Given the description of an element on the screen output the (x, y) to click on. 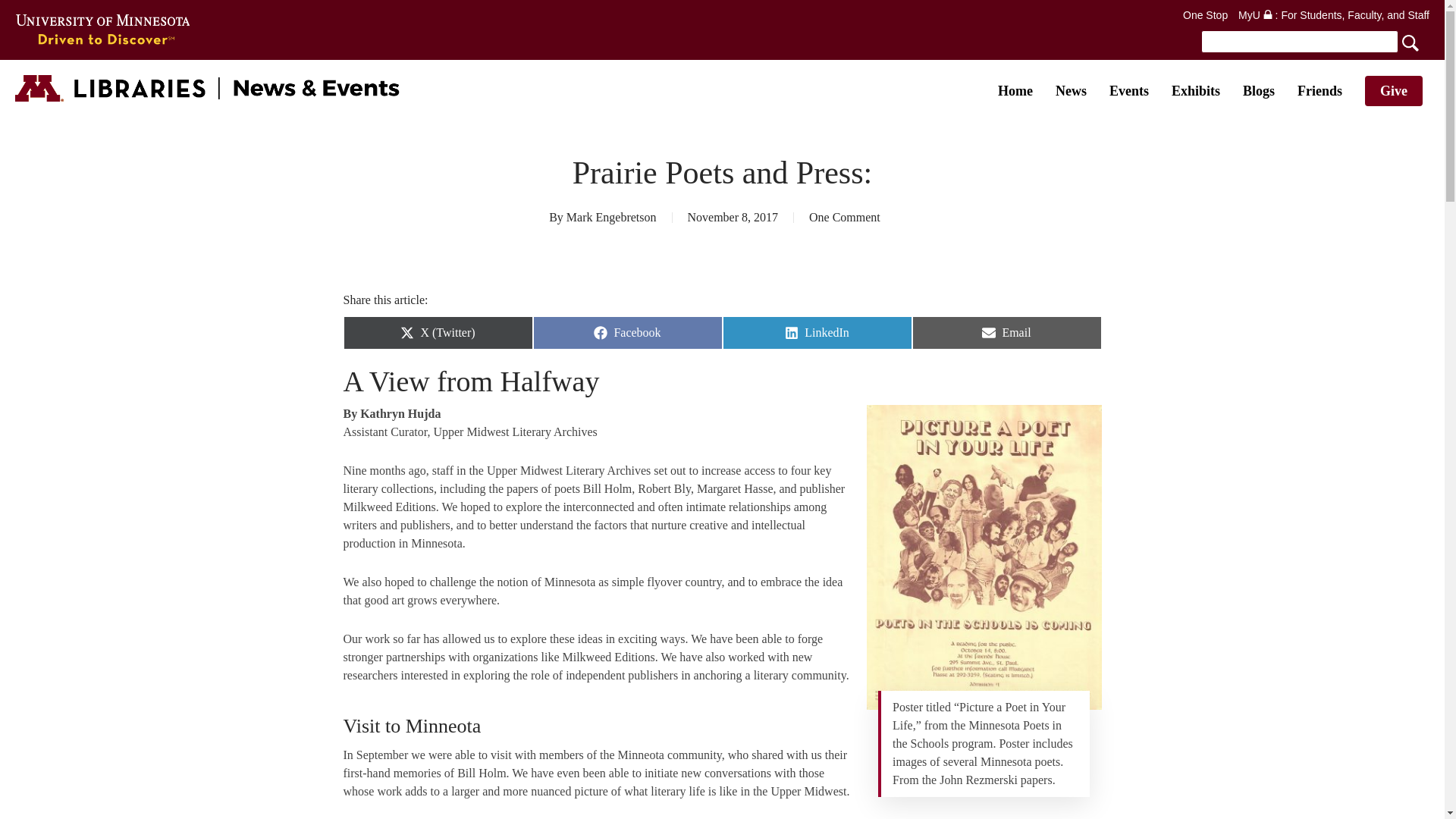
Give (1393, 90)
News (1070, 90)
Friends (1319, 90)
Exhibits (1196, 90)
Search (1313, 41)
Blogs (1259, 90)
Home (1014, 90)
One Stop (1204, 15)
Posts by Mark Engebretson (611, 216)
Events (1128, 90)
